Given the description of an element on the screen output the (x, y) to click on. 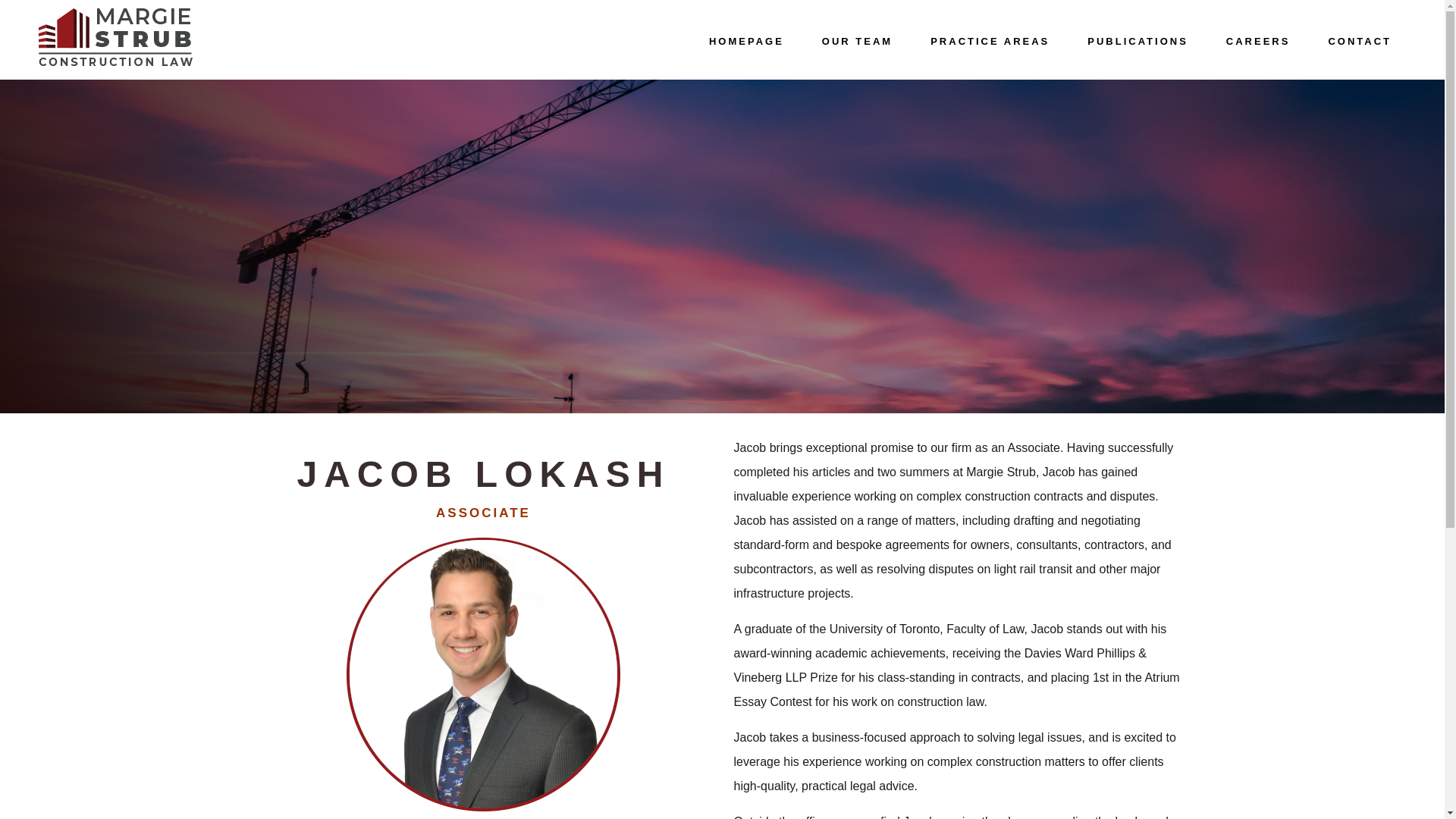
OUR TEAM (857, 39)
PUBLICATIONS (1137, 39)
CAREERS (1257, 39)
PRACTICE AREAS (989, 39)
CONTACT (1359, 39)
HOMEPAGE (746, 39)
